Given the description of an element on the screen output the (x, y) to click on. 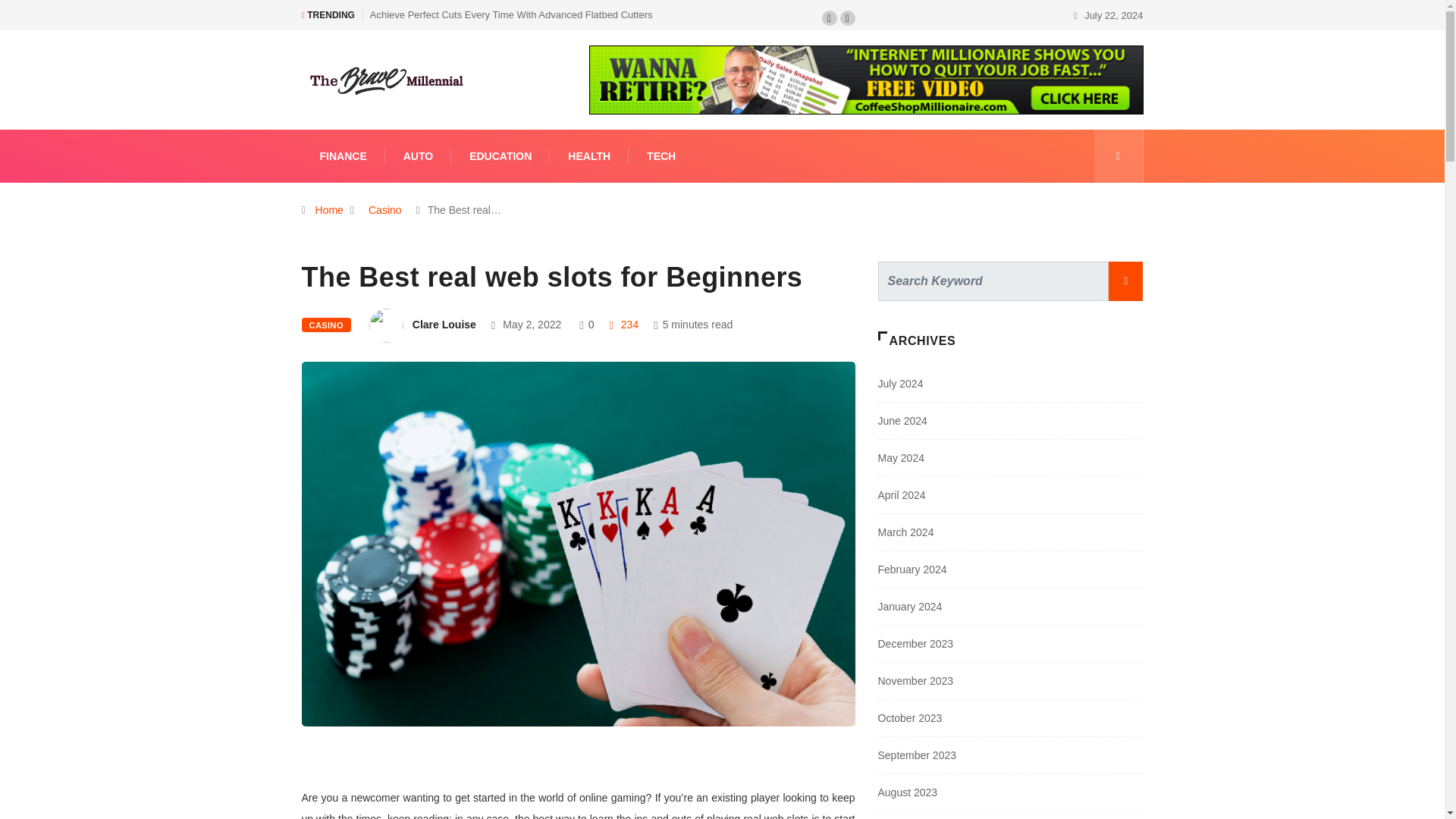
January 2024 (909, 606)
CASINO (325, 324)
October 2023 (909, 717)
April 2024 (901, 494)
popup modal for search (1117, 155)
July 2024 (900, 383)
March 2024 (905, 532)
November 2023 (915, 680)
September 2023 (916, 755)
December 2023 (915, 644)
May 2024 (900, 458)
June 2024 (902, 420)
EDUCATION (499, 155)
Clare Louise (444, 324)
